Given the description of an element on the screen output the (x, y) to click on. 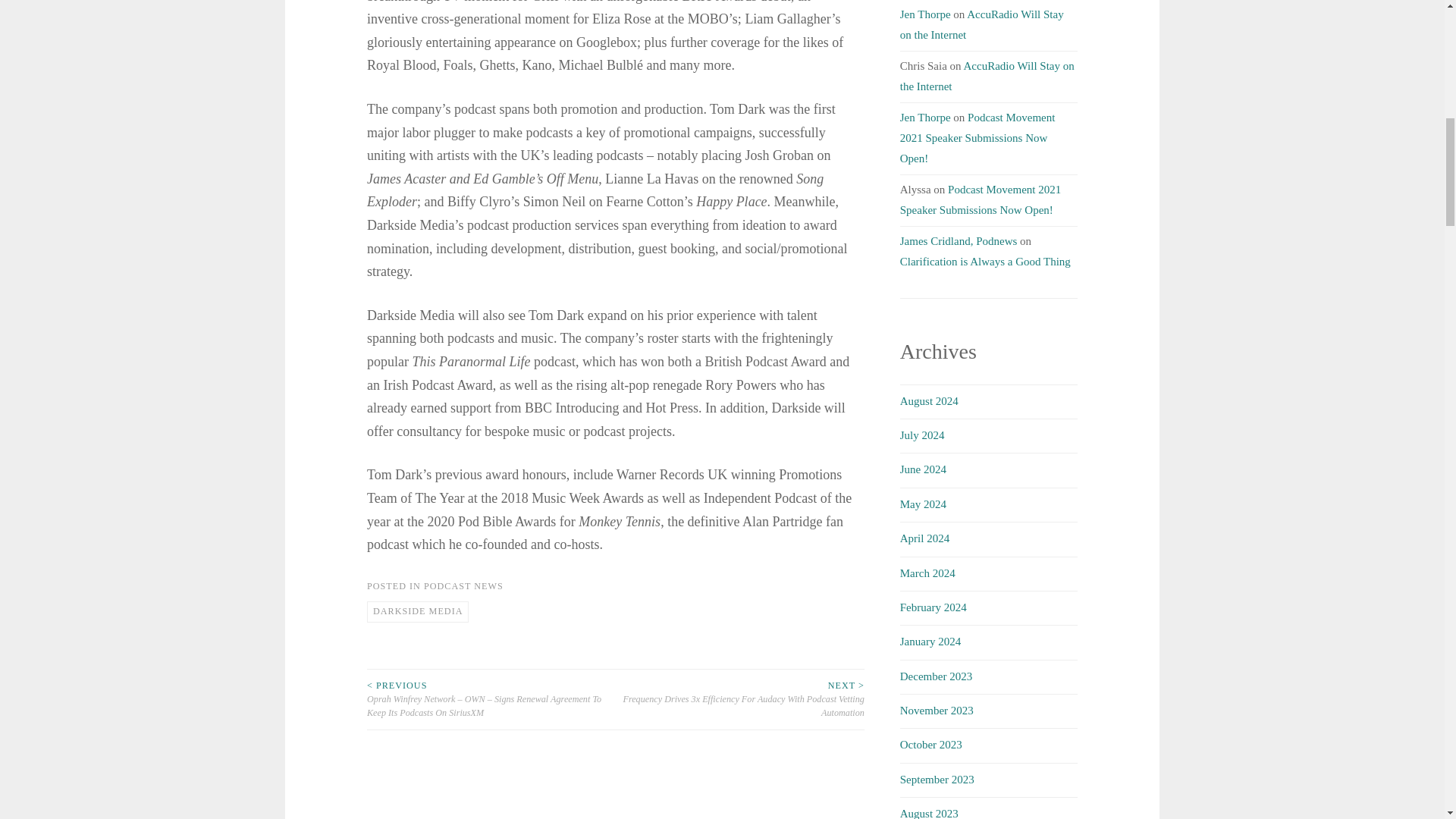
May 2024 (922, 503)
April 2024 (924, 538)
Clarification is Always a Good Thing (984, 261)
DARKSIDE MEDIA (417, 611)
July 2024 (921, 435)
Podcast Movement 2021 Speaker Submissions Now Open! (977, 137)
Jen Thorpe (924, 14)
Jen Thorpe (924, 117)
James Cridland, Podnews (958, 241)
August 2024 (928, 400)
